Given the description of an element on the screen output the (x, y) to click on. 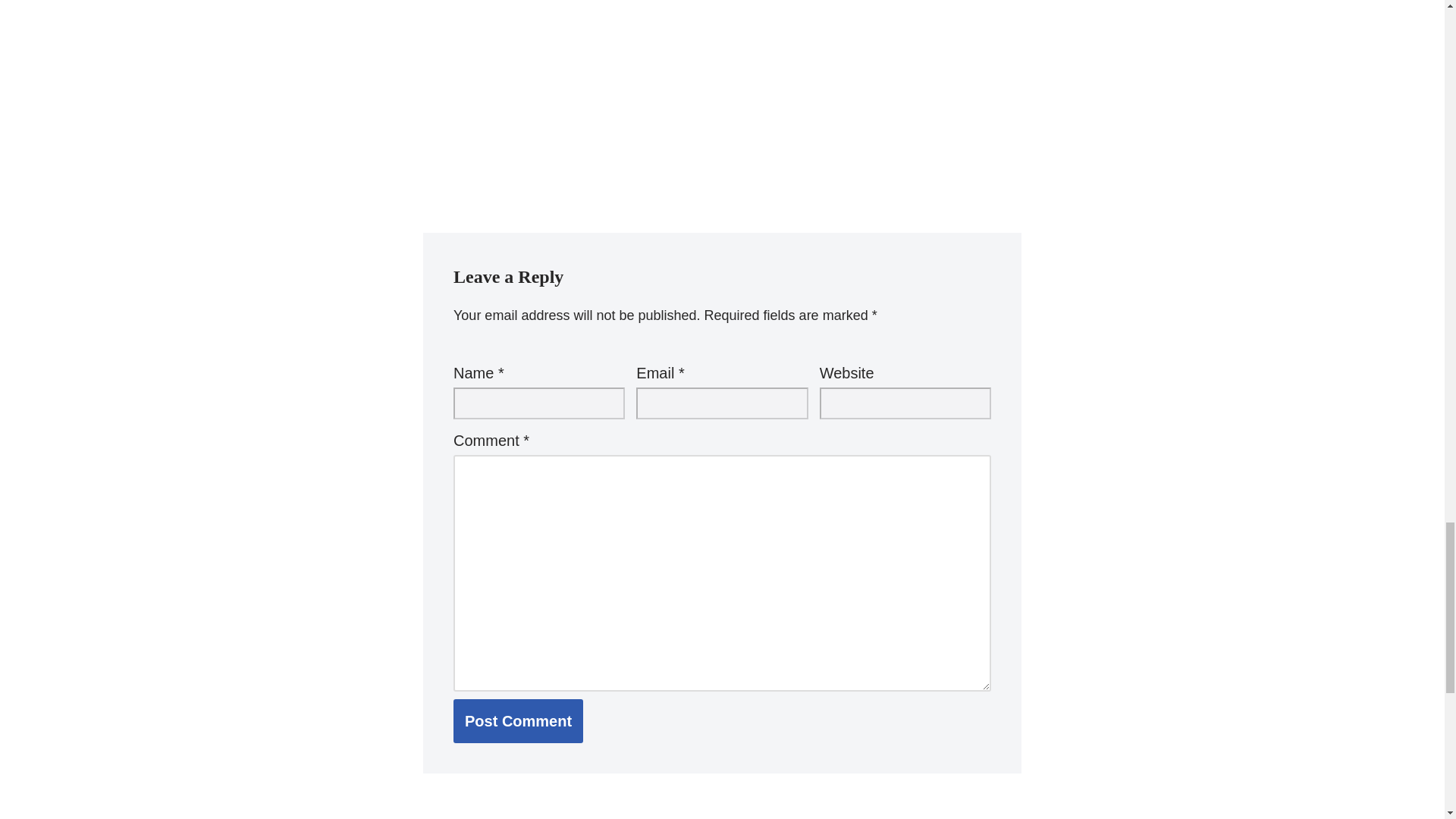
Post Comment (517, 720)
Post Comment (517, 720)
